Given the description of an element on the screen output the (x, y) to click on. 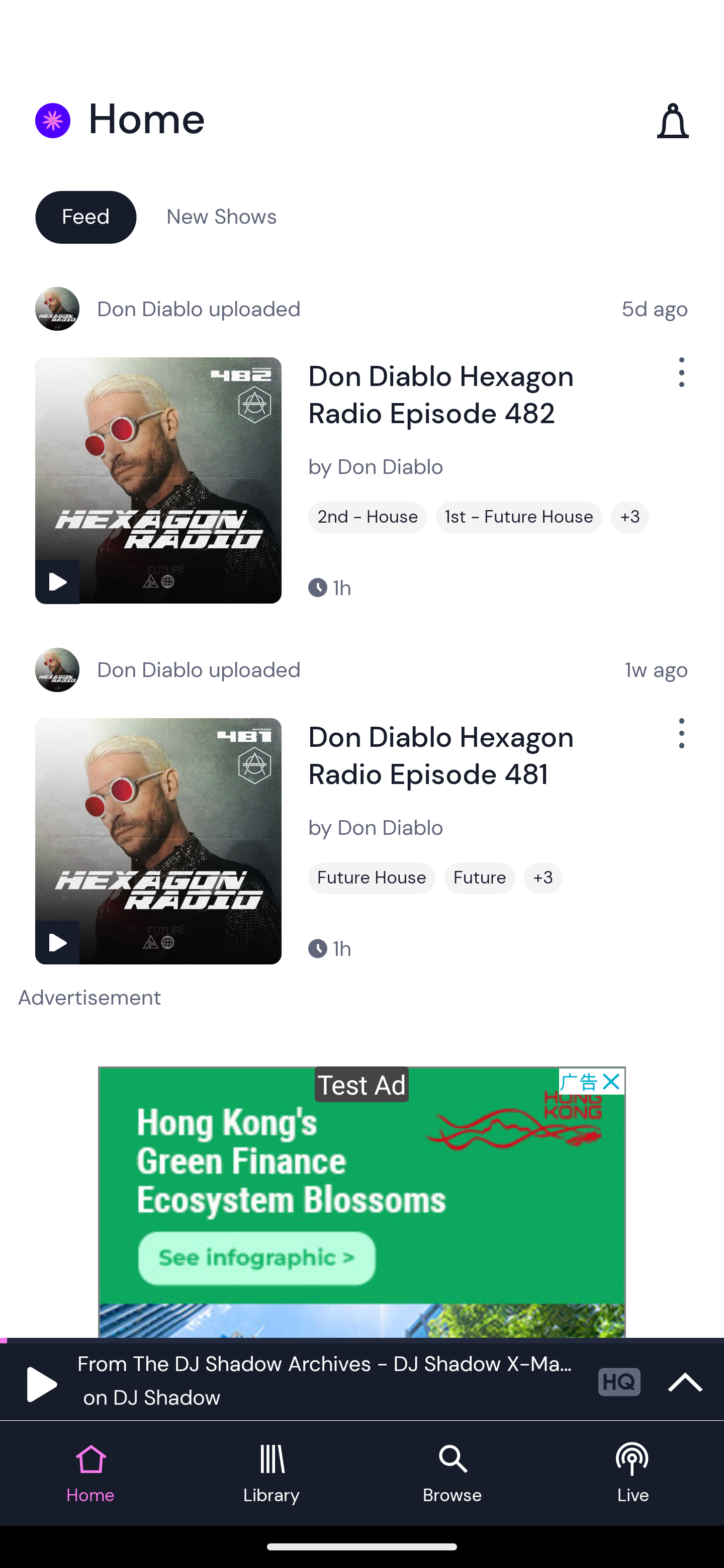
Feed (85, 216)
New Shows (221, 216)
Show Options Menu Button (679, 379)
2nd - House (367, 517)
1st - Future House (518, 517)
Show Options Menu Button (679, 740)
Future House (371, 877)
Future (479, 877)
Advertisement (361, 1201)
Home tab Home (90, 1473)
Library tab Library (271, 1473)
Browse tab Browse (452, 1473)
Live tab Live (633, 1473)
